Given the description of an element on the screen output the (x, y) to click on. 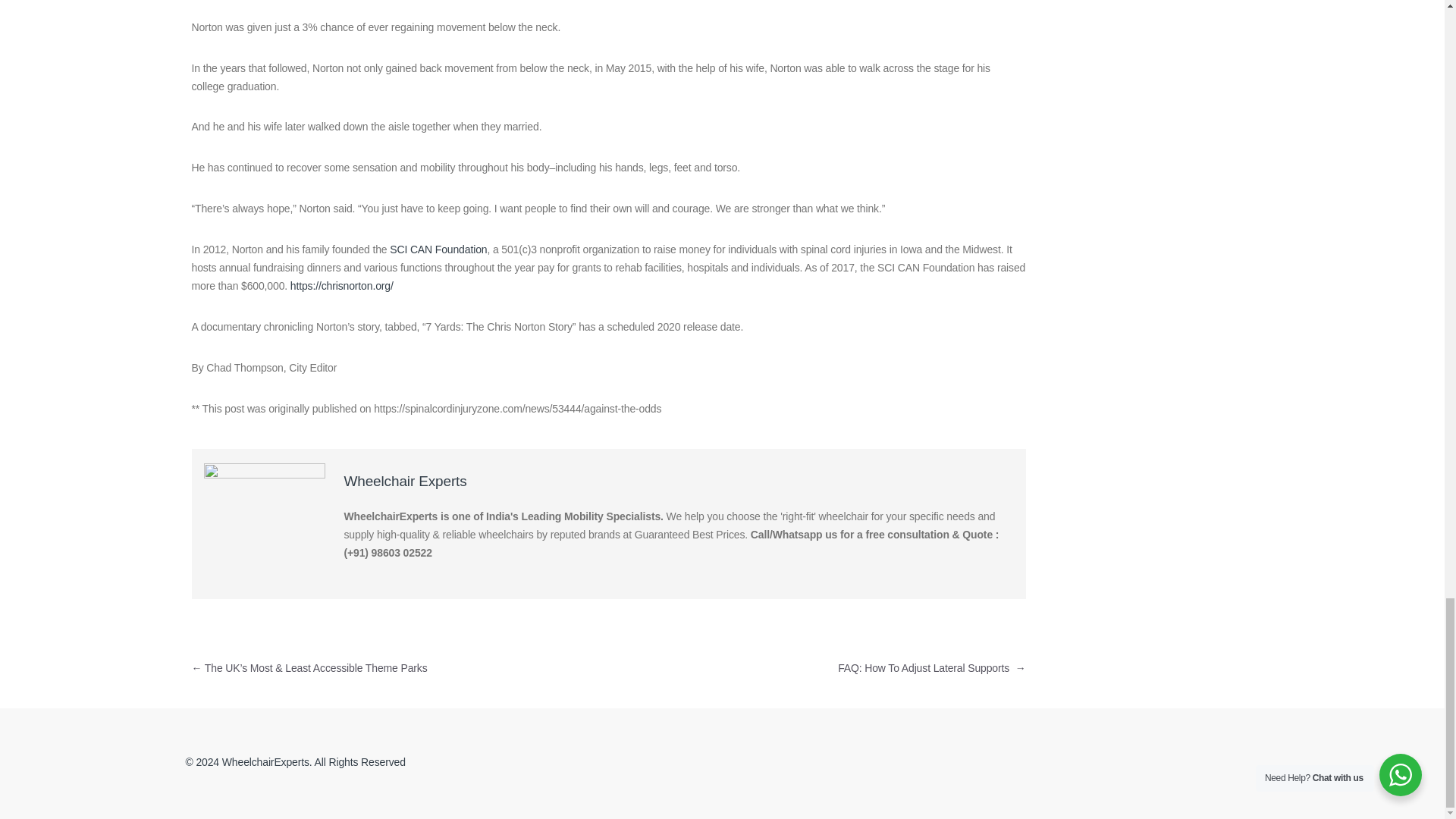
SCI CAN Foundation (438, 249)
Wheelchair Experts (405, 480)
